Given the description of an element on the screen output the (x, y) to click on. 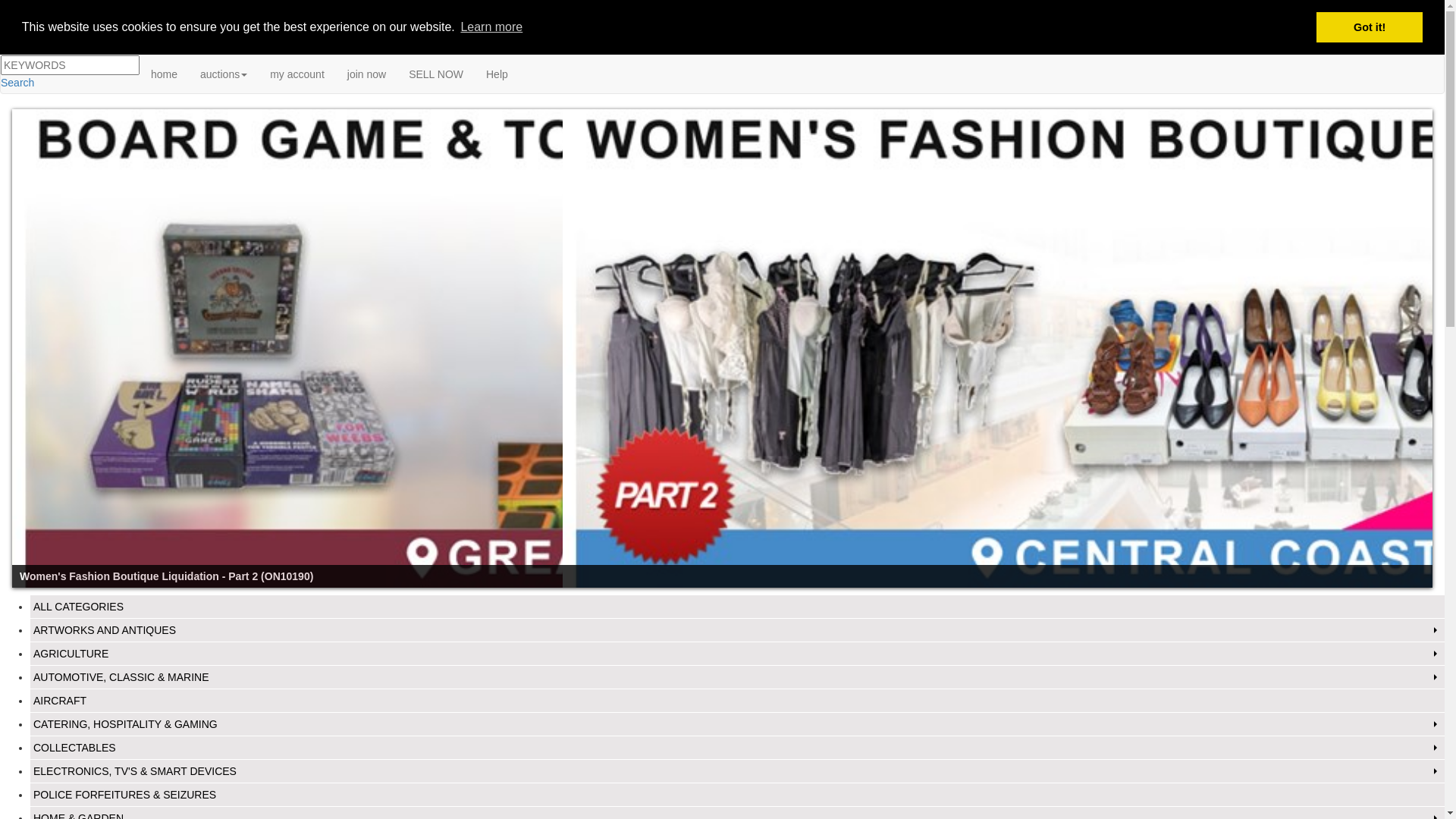
join now Element type: text (366, 74)
auctions Element type: text (223, 74)
Help Element type: text (496, 74)
POLICE FORFEITURES & SEIZURES Element type: text (737, 794)
my account Element type: text (296, 74)
COLLECTABLES Element type: text (737, 747)
Search Element type: text (17, 82)
AUTOMOTIVE, CLASSIC & MARINE Element type: text (737, 676)
ELECTRONICS, TV'S & SMART DEVICES Element type: text (737, 770)
AGRICULTURE Element type: text (737, 653)
CATERING, HOSPITALITY & GAMING Element type: text (737, 723)
ARTWORKS AND ANTIQUES Element type: text (737, 629)
SELL NOW Element type: text (435, 74)
ALL CATEGORIES Element type: text (737, 606)
Learn more Element type: text (491, 26)
home Element type: text (163, 74)
AIRCRAFT Element type: text (737, 700)
Forgot password? Element type: text (80, 7)
Got it! Element type: text (1369, 27)
 Sign In Element type: text (19, 7)
